Given the description of an element on the screen output the (x, y) to click on. 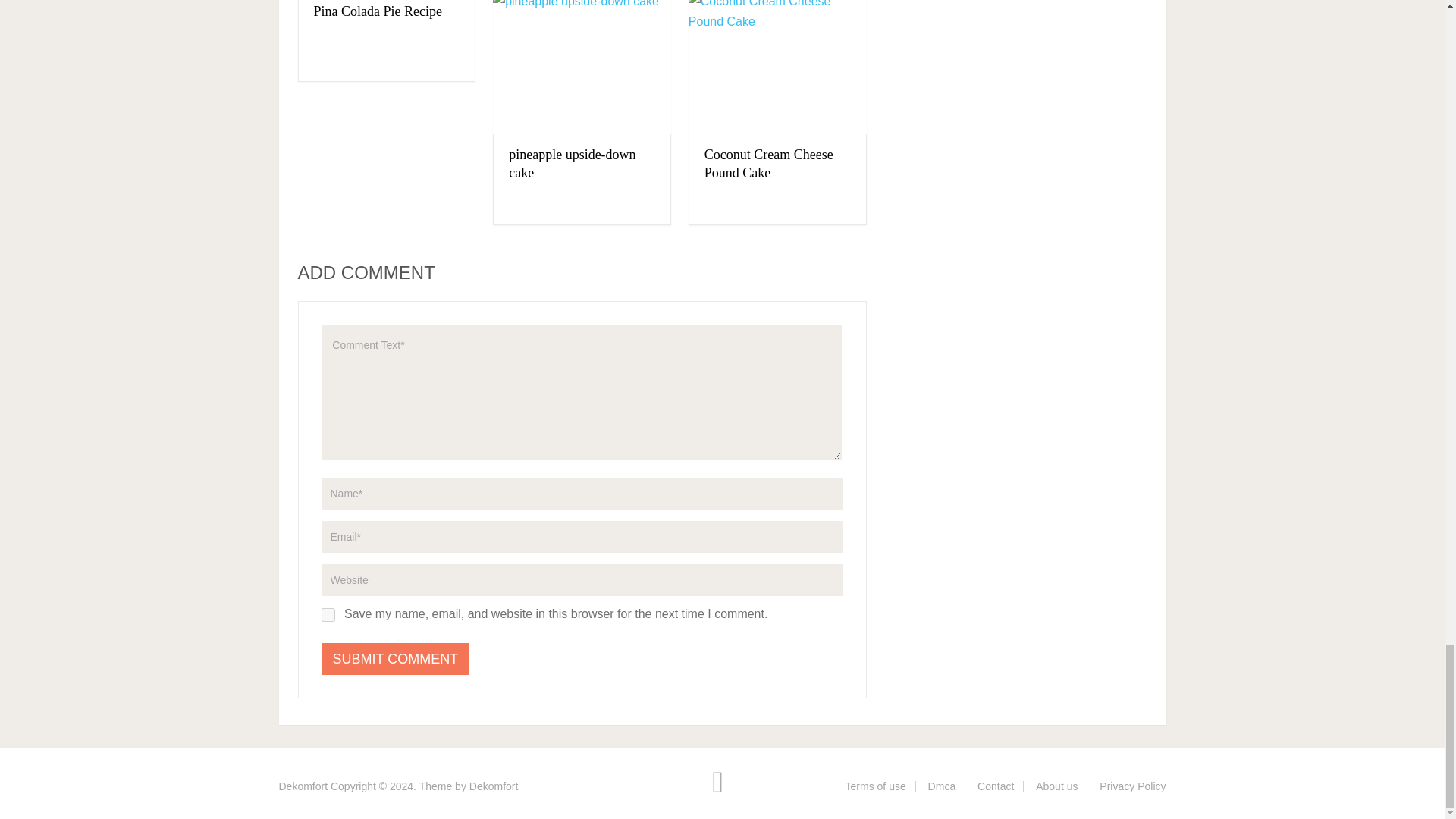
Terms of use (875, 786)
pineapple upside-down cake (582, 67)
pineapple upside-down cake (571, 163)
yes (327, 614)
Submit Comment (395, 658)
Submit Comment (395, 658)
Pina Colada Pie Recipe (378, 11)
Contact (994, 786)
Dmca (942, 786)
About us (1056, 786)
Coconut Cream Cheese Pound Cake (768, 163)
Dekomfort (493, 786)
pineapple upside-down cake (571, 163)
Dekomfort (304, 786)
Pina Colada Pie Recipe (378, 11)
